Given the description of an element on the screen output the (x, y) to click on. 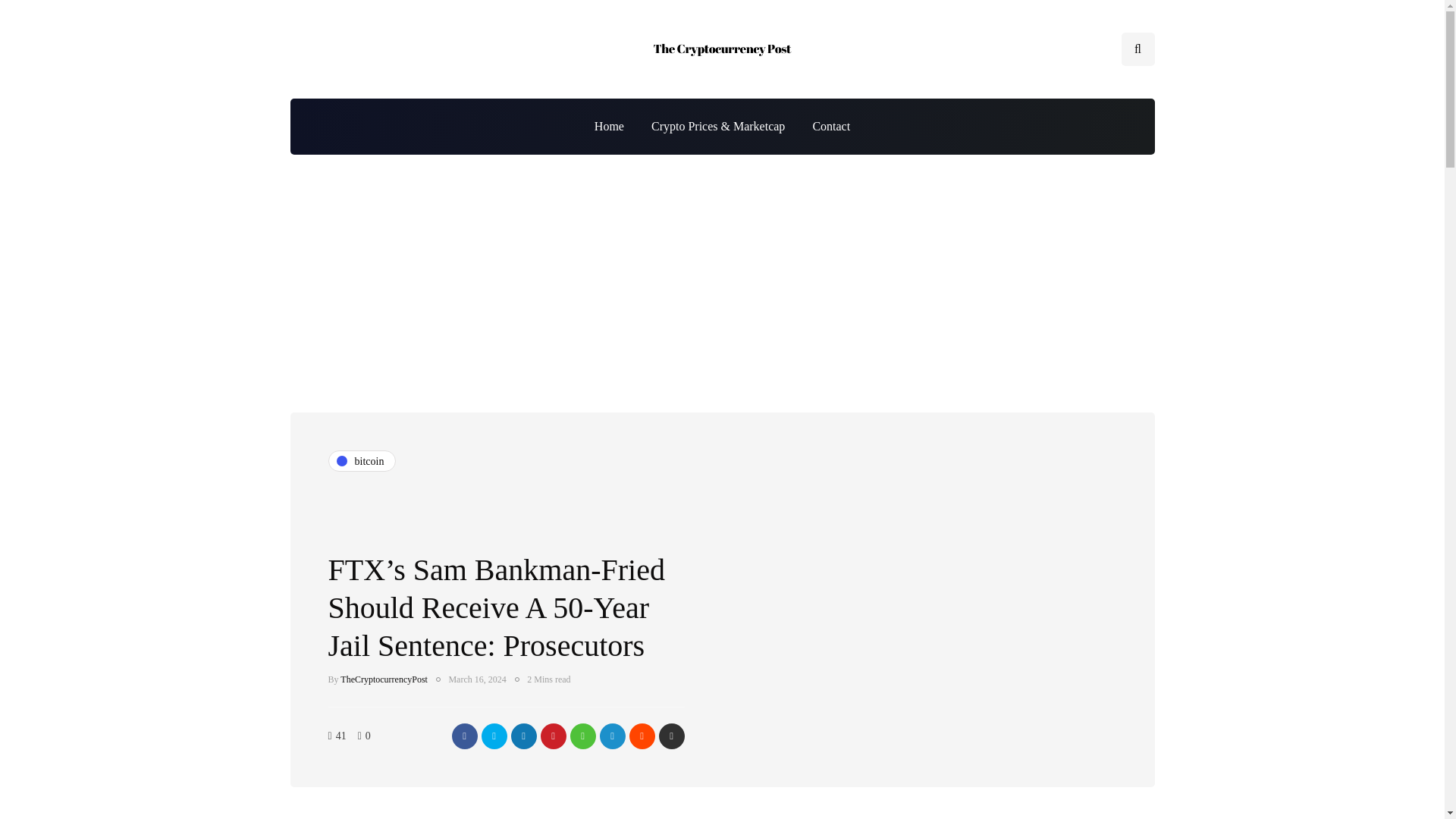
Pin this (553, 736)
bitcoin (361, 460)
Posts by TheCryptocurrencyPost (384, 679)
Share to Telegram (611, 736)
Home (608, 126)
Share by Email (671, 736)
Share with LinkedIn (524, 736)
Share to WhatsApp (582, 736)
Contact (830, 126)
Share with Facebook (464, 736)
Share on Reddit (641, 736)
TheCryptocurrencyPost (384, 679)
Tweet this (493, 736)
